Given the description of an element on the screen output the (x, y) to click on. 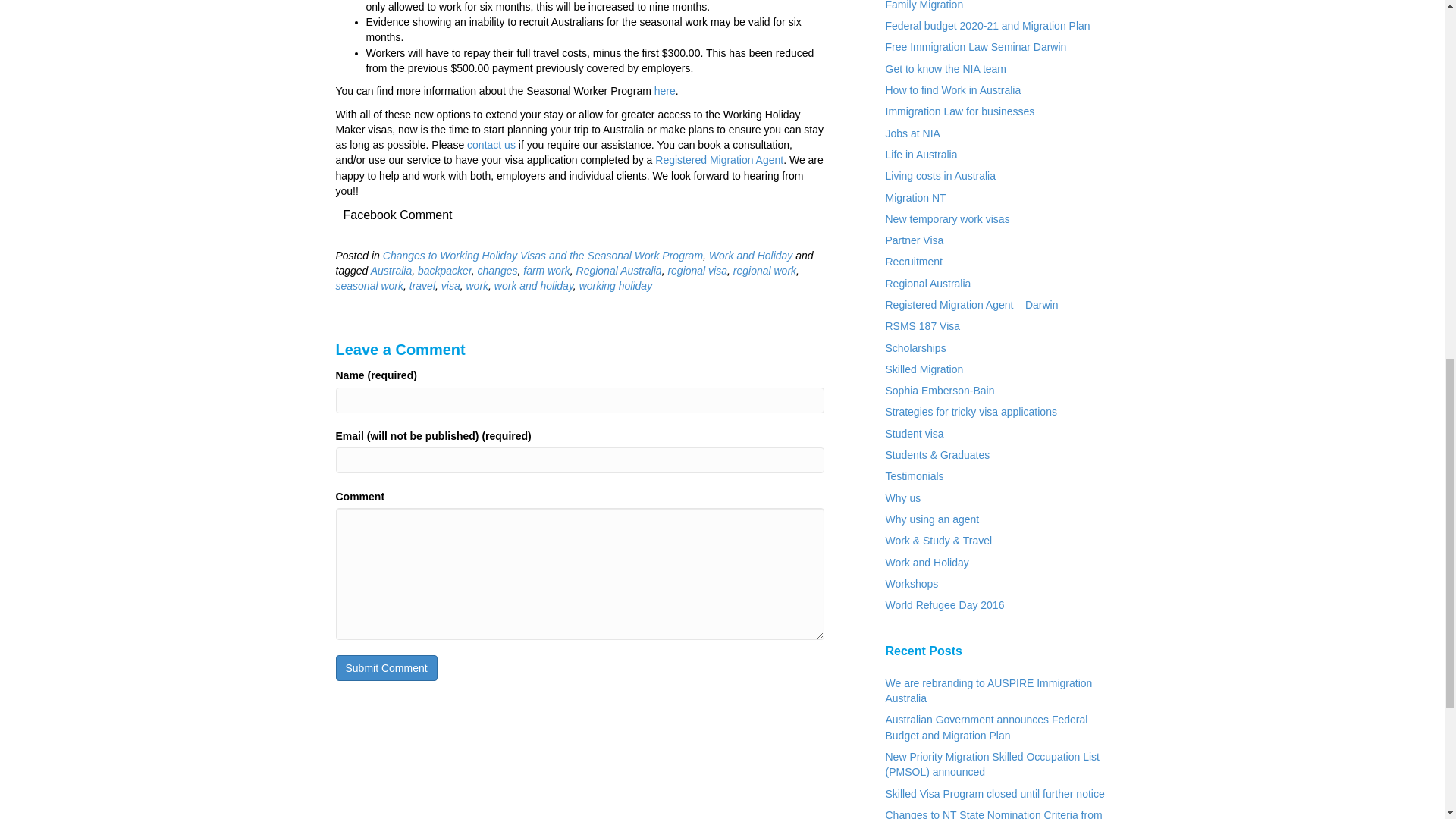
here (664, 91)
contact us (491, 144)
Registered Migration Agent (719, 159)
Work and Holiday (751, 255)
Submit Comment (385, 667)
